Given the description of an element on the screen output the (x, y) to click on. 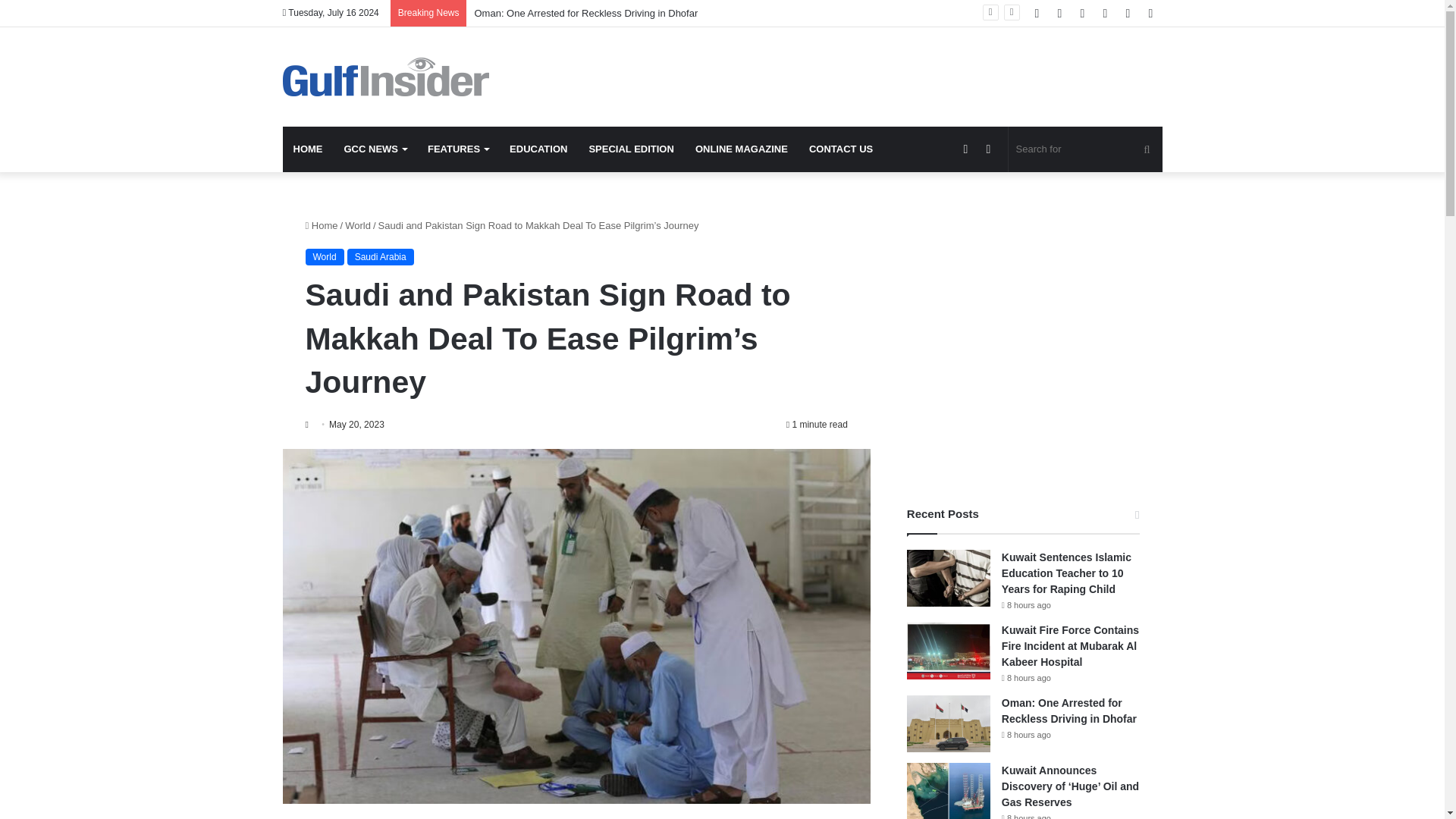
FEATURES (457, 148)
EDUCATION (538, 148)
World (323, 256)
World (358, 225)
ONLINE MAGAZINE (740, 148)
Home (320, 225)
3rd party ad content (872, 76)
Search for (1085, 148)
HOME (307, 148)
Oman: One Arrested for Reckless Driving in Dhofar (585, 12)
GCC NEWS (375, 148)
Saudi Arabia (380, 256)
CONTACT US (840, 148)
Gulf Insider (384, 76)
SPECIAL EDITION (631, 148)
